Given the description of an element on the screen output the (x, y) to click on. 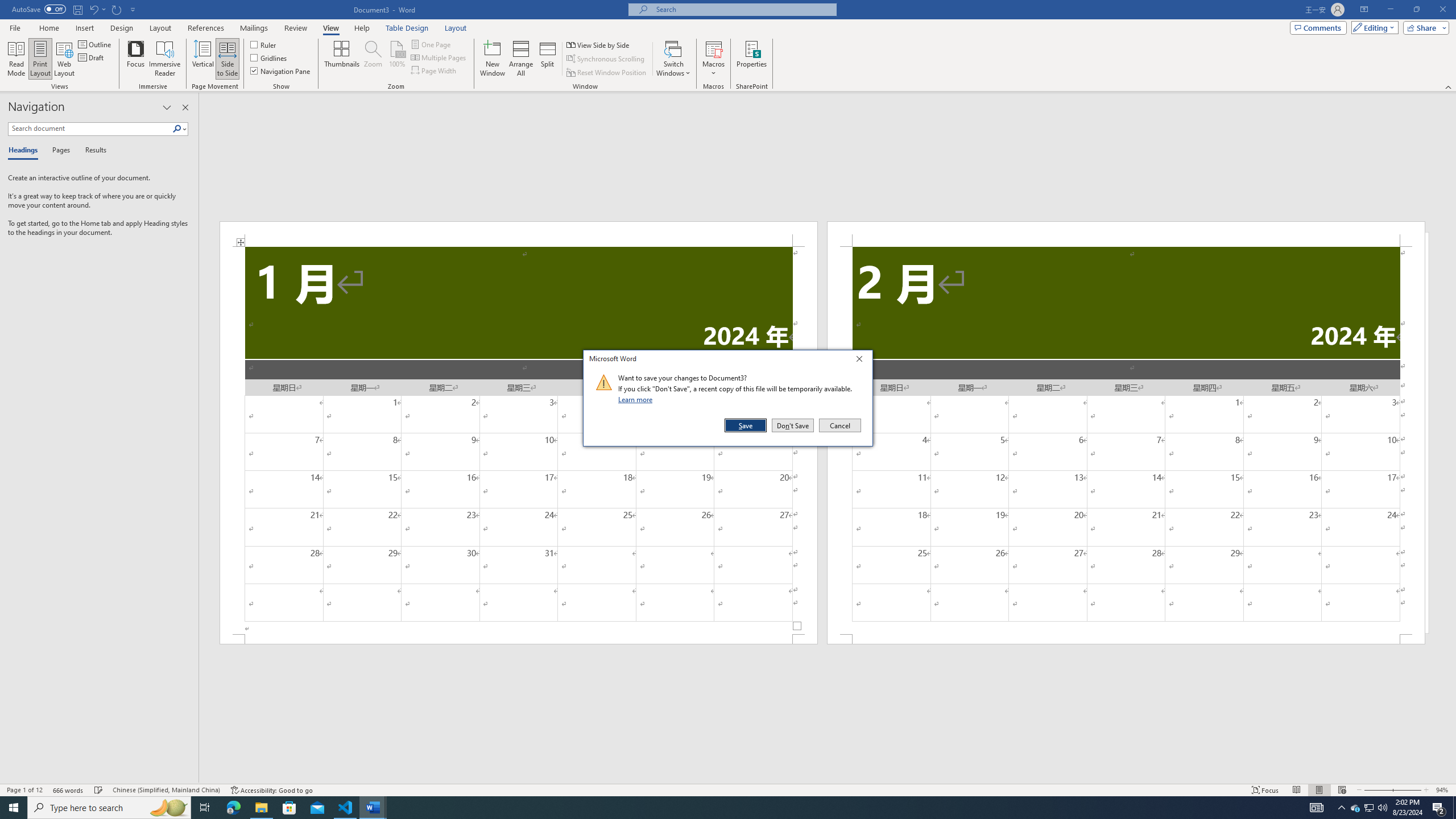
Navigation Pane (281, 69)
New Window (492, 58)
View Side by Side (598, 44)
Vertical (202, 58)
Side to Side (226, 58)
